Given the description of an element on the screen output the (x, y) to click on. 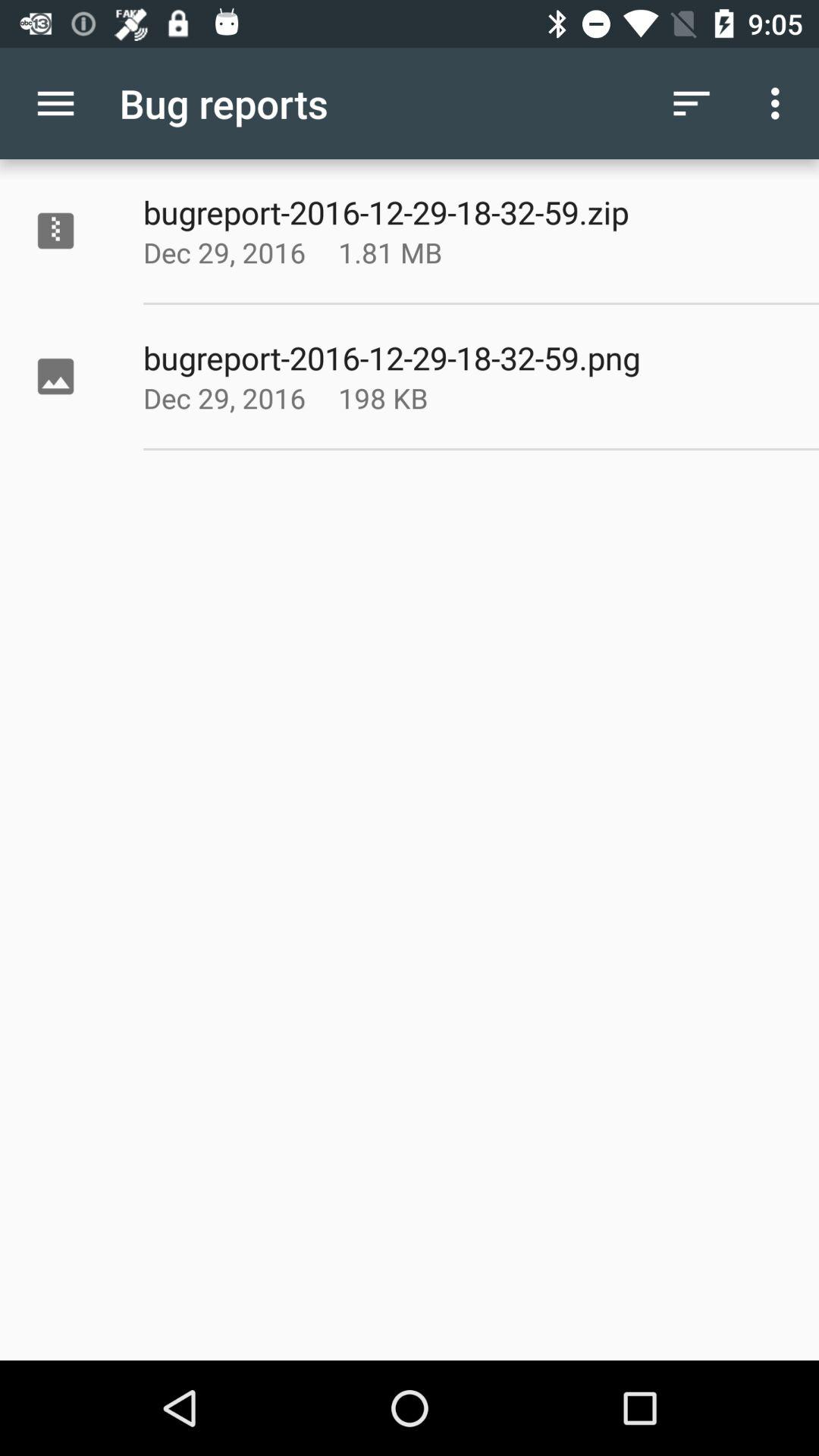
choose the icon to the right of the bug reports (691, 103)
